Given the description of an element on the screen output the (x, y) to click on. 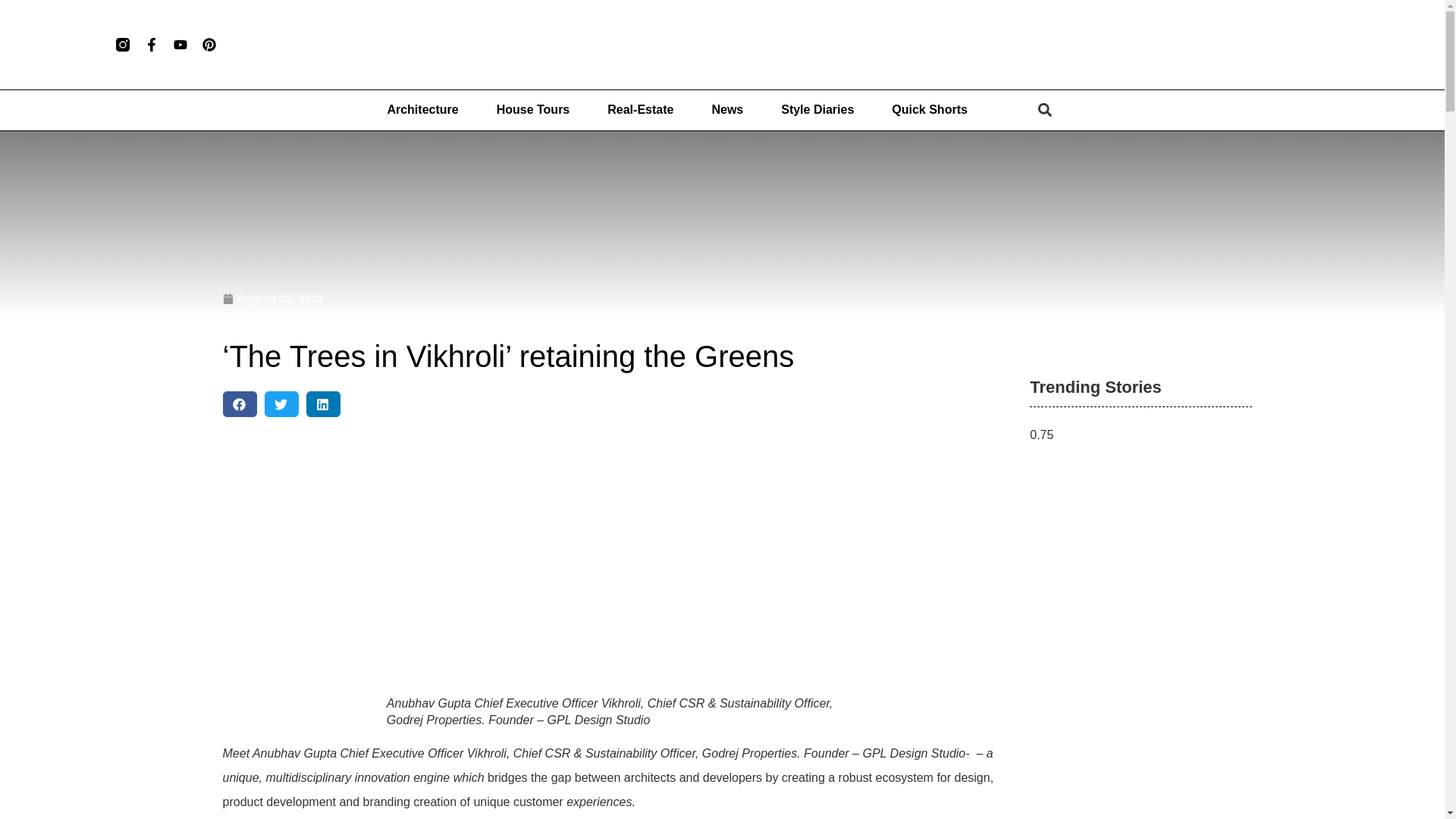
August 23, 2021 (272, 298)
News (726, 109)
Style Diaries (816, 109)
Quick Shorts (929, 109)
Architecture (422, 109)
House Tours (533, 109)
Real-Estate (639, 109)
